Given the description of an element on the screen output the (x, y) to click on. 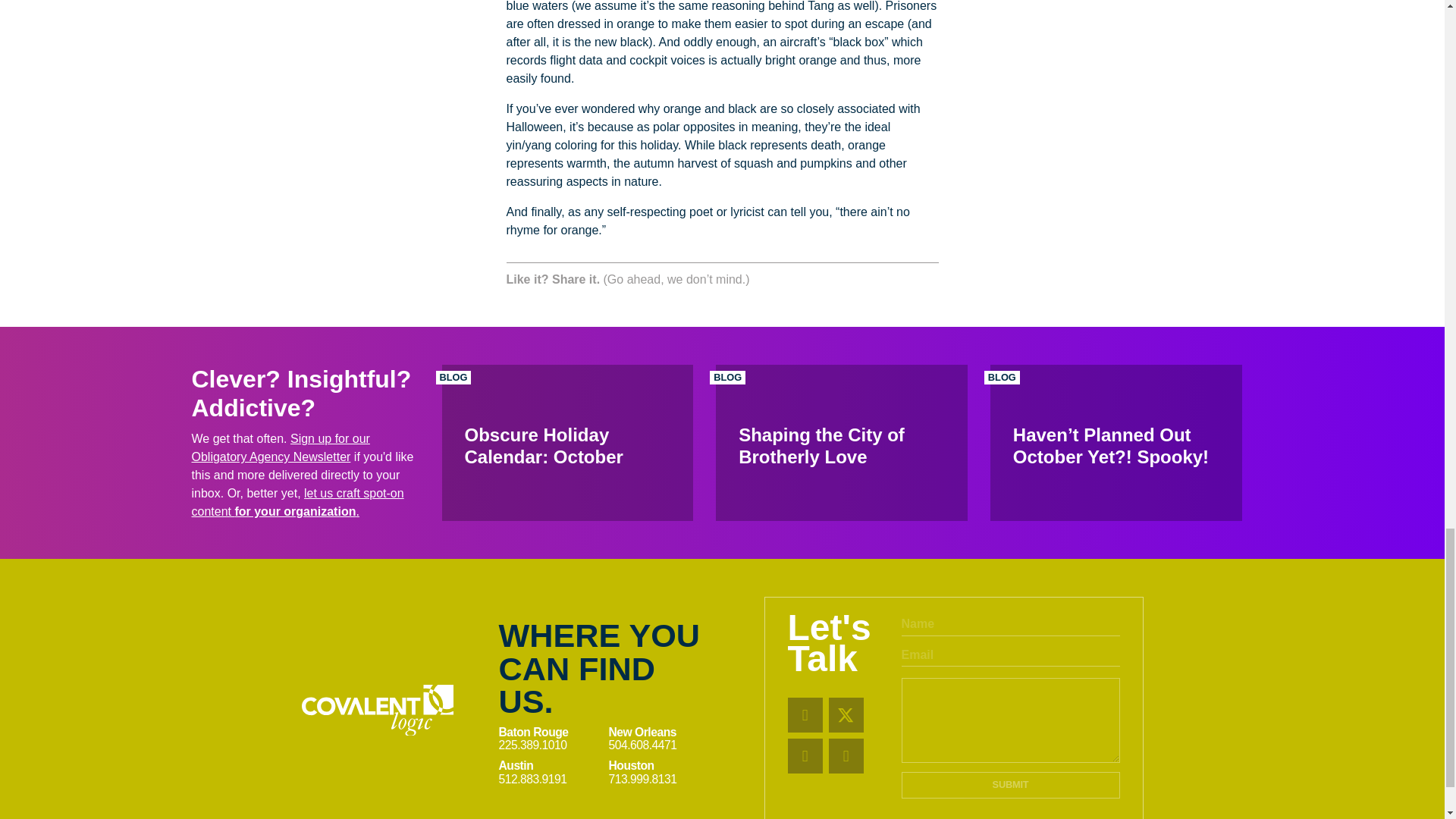
Houston (662, 765)
Obscure Holiday Calendar: October (567, 442)
Austin (550, 765)
Sign up for our Obligatory Agency Newsletter (279, 447)
225.389.1010 (550, 744)
Shaping the City of Brotherly Love (842, 442)
submit (1010, 785)
covalent logic (376, 710)
512.883.9191 (550, 779)
713.999.8131 (662, 779)
New Orleans (662, 731)
504.608.4471 (662, 744)
Baton Rouge (550, 731)
let us craft spot-on content for your organization. (296, 501)
